Given the description of an element on the screen output the (x, y) to click on. 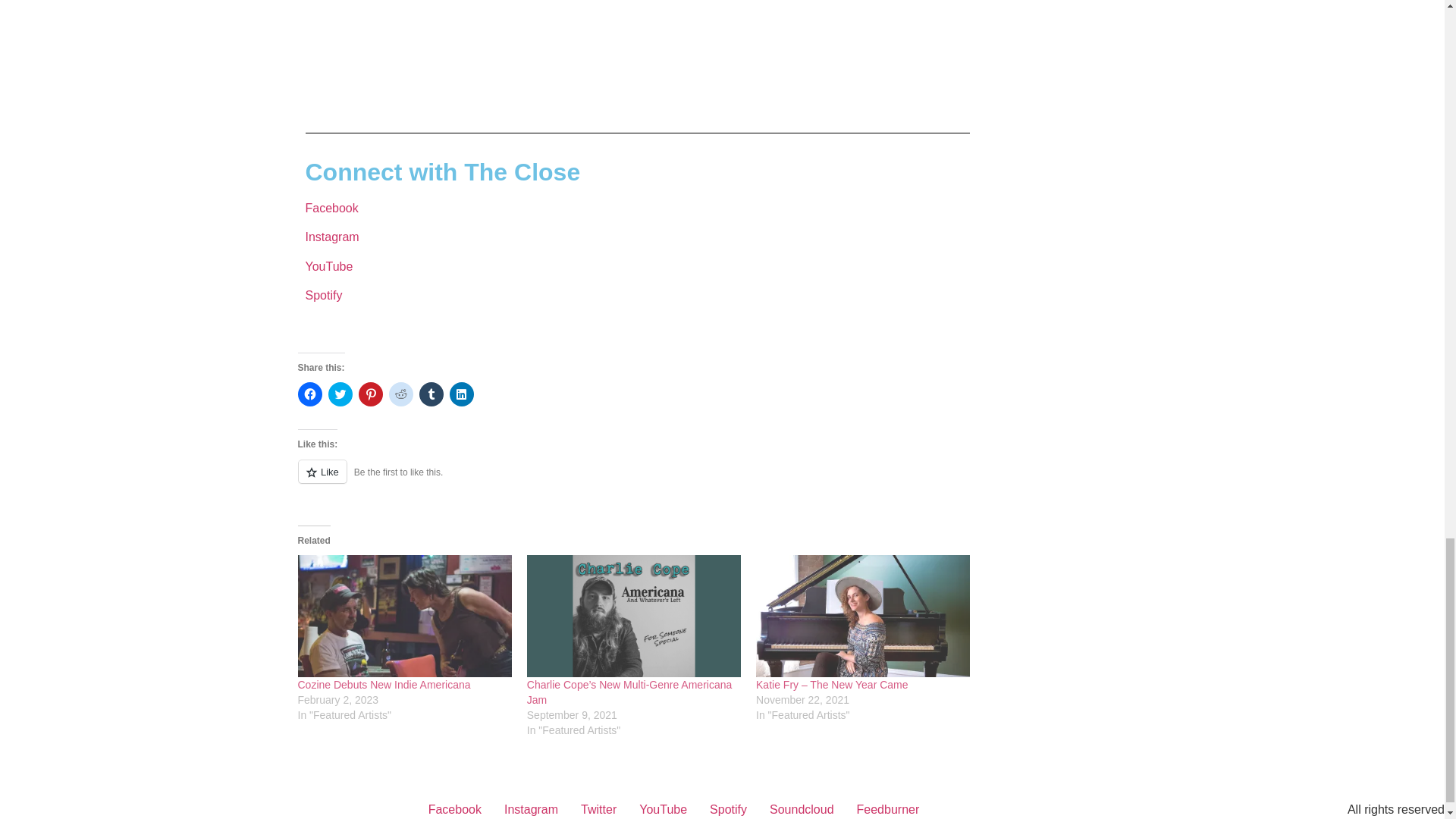
YouTube (328, 266)
Click to share on Facebook (309, 394)
Like or Reblog (636, 480)
Click to share on Twitter (339, 394)
Instagram (331, 236)
Click to share on LinkedIn (460, 394)
Facebook (331, 207)
Click to share on Tumblr (430, 394)
Spotify (323, 295)
Cozine Debuts New Indie Americana (404, 616)
